Given the description of an element on the screen output the (x, y) to click on. 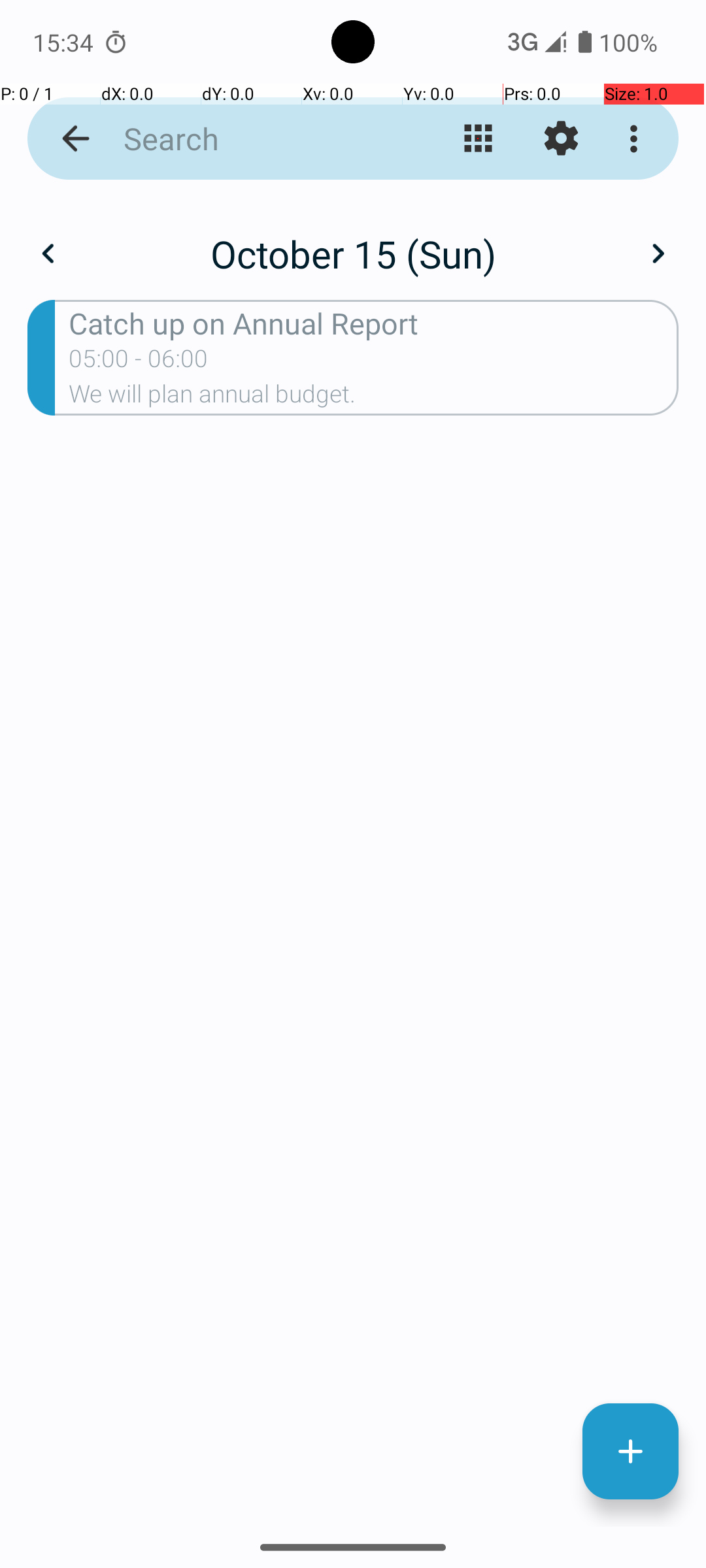
October 15 (Sun) Element type: android.widget.TextView (352, 253)
Catch up on Annual Report Element type: android.widget.TextView (373, 321)
05:00 - 06:00 Element type: android.widget.TextView (137, 362)
We will plan annual budget. Element type: android.widget.TextView (373, 397)
